Given the description of an element on the screen output the (x, y) to click on. 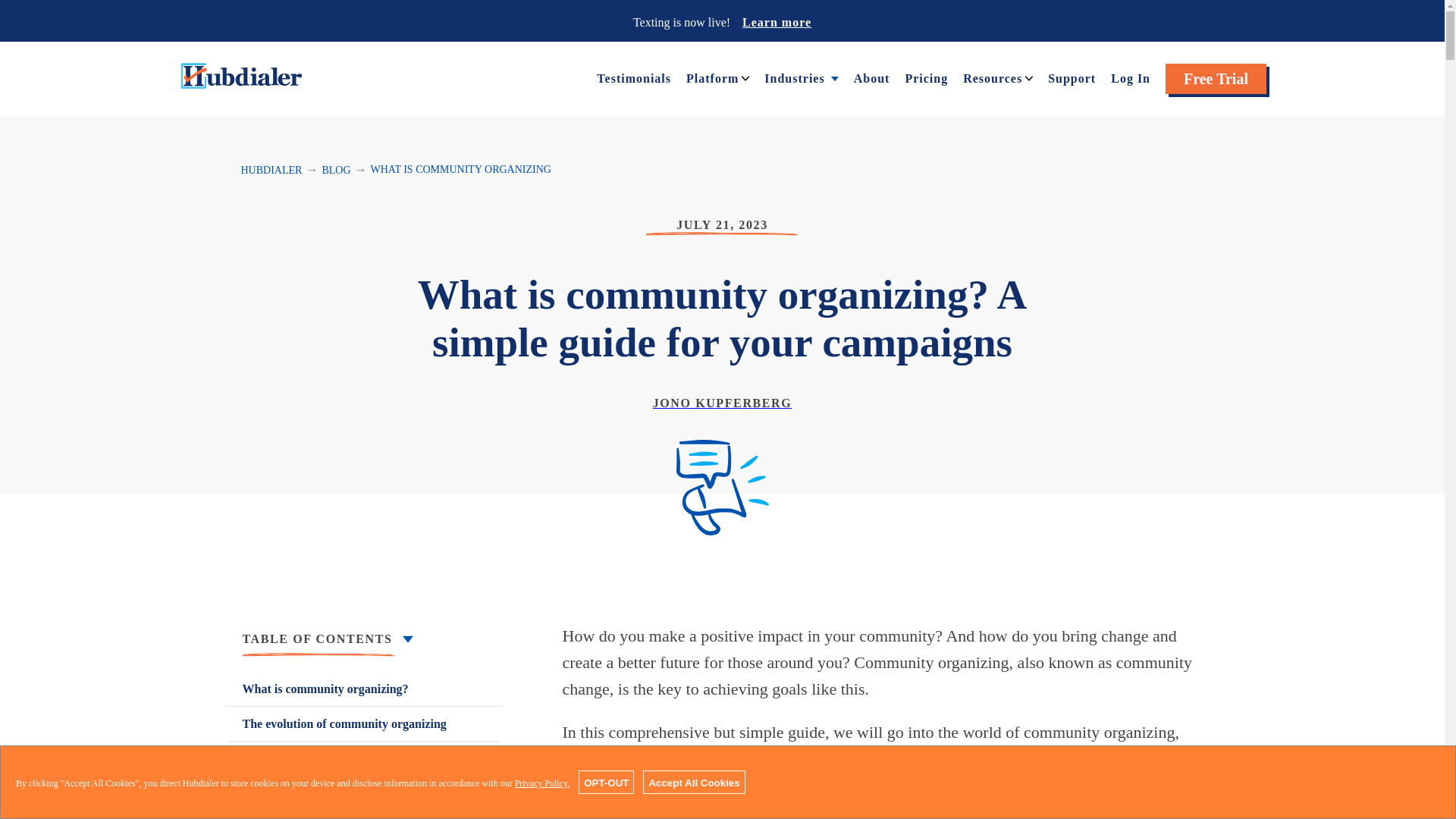
Testimonials (633, 77)
The evolution of community organizing (363, 723)
What is the first step in community organizing? (363, 768)
WHAT IS COMMUNITY ORGANIZING (461, 169)
BLOG (335, 170)
Support (1072, 77)
HUBDIALER (271, 170)
Pricing (925, 77)
What is community organizing? (363, 688)
Log In (1130, 77)
Resources (992, 77)
Accept All Cookies (693, 781)
About (871, 77)
Platform (711, 77)
